Given the description of an element on the screen output the (x, y) to click on. 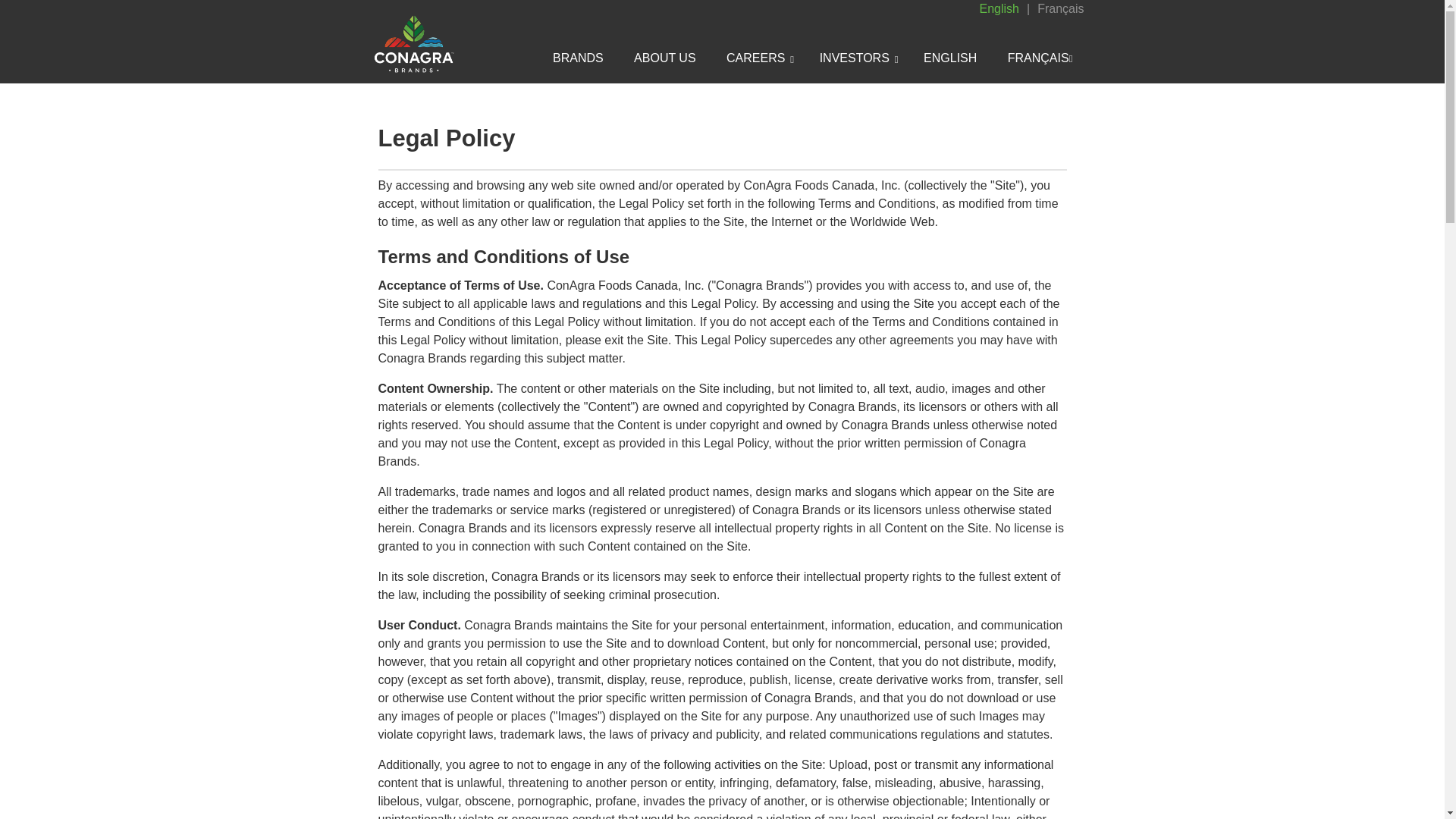
CAREERS (757, 59)
INVESTORS (856, 59)
ENGLISH (949, 59)
BRANDS (578, 59)
ABOUT US (664, 59)
Home (450, 36)
English (999, 8)
